Given the description of an element on the screen output the (x, y) to click on. 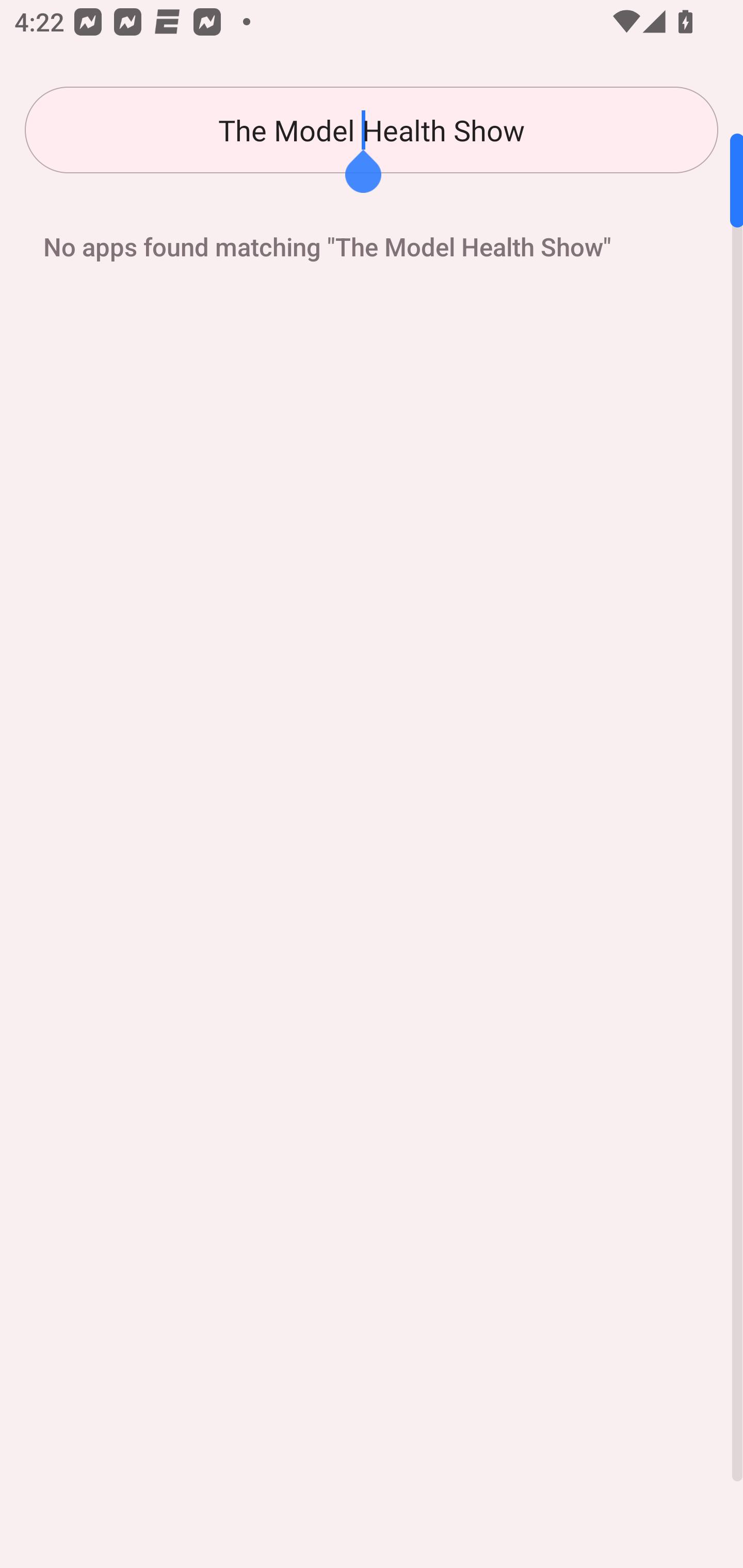
The Model Health Show (371, 130)
